Given the description of an element on the screen output the (x, y) to click on. 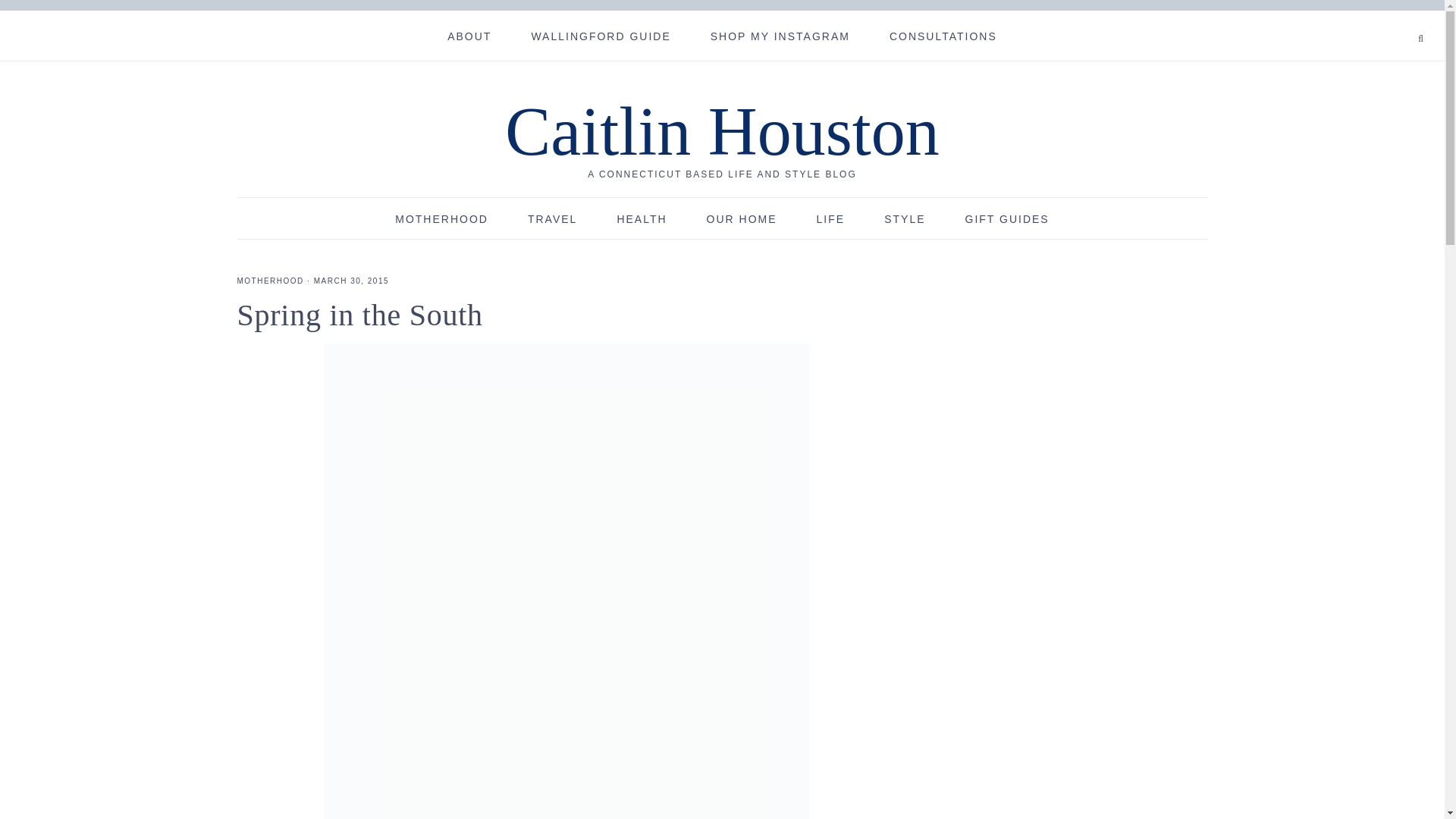
TRAVEL (552, 218)
LinkedIn (1400, 19)
CONSULTATIONS (942, 34)
WALLINGFORD GUIDE (600, 34)
HEALTH (640, 218)
ABOUT (469, 34)
GIFT GUIDES (1006, 218)
STYLE (904, 218)
Twitter (1382, 19)
LIFE (830, 218)
Instagram (1394, 19)
Facebook (1375, 19)
OUR HOME (741, 218)
MOTHERHOOD (268, 280)
SHOP MY INSTAGRAM (779, 34)
